Given the description of an element on the screen output the (x, y) to click on. 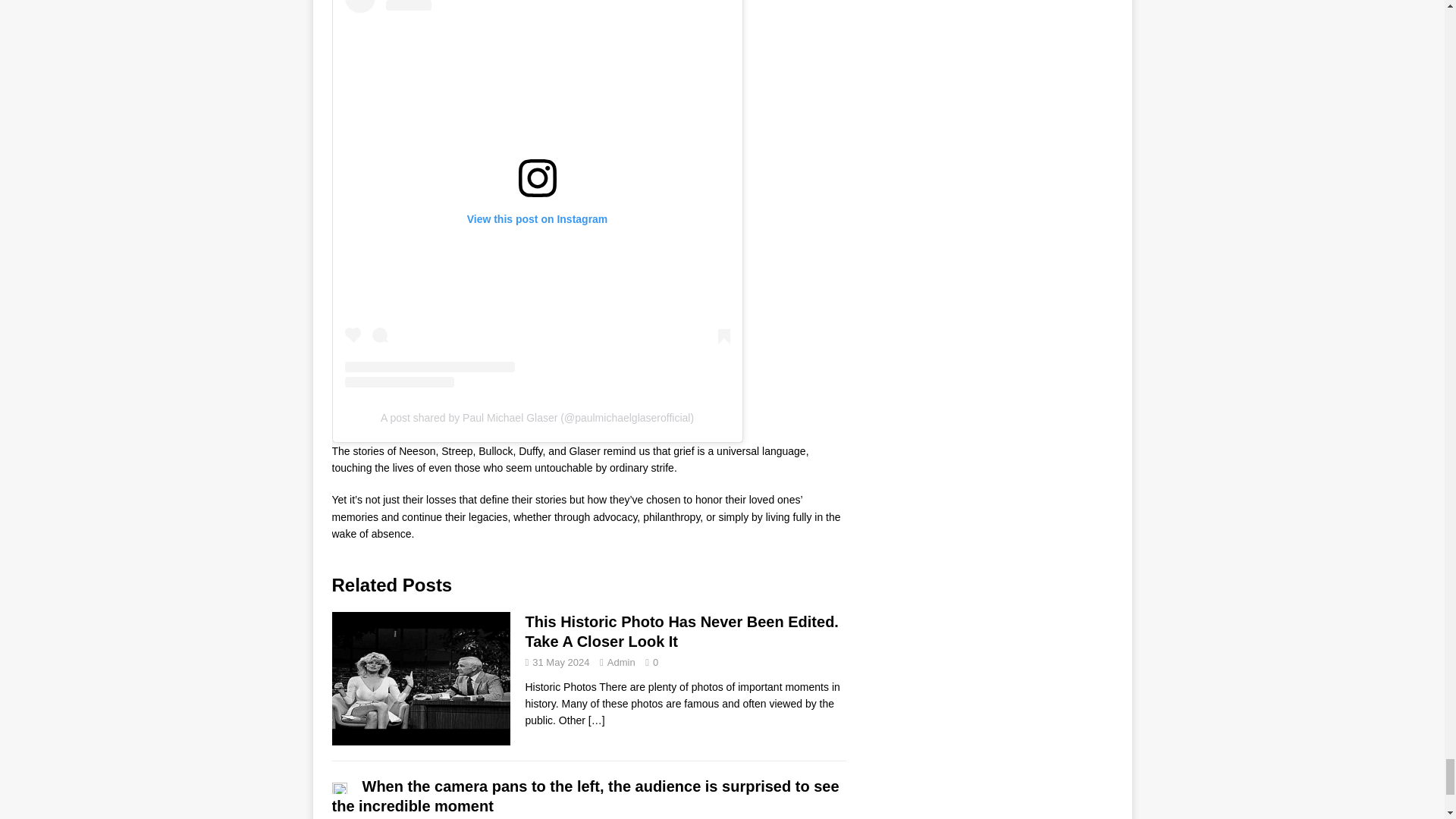
Admin (620, 662)
